Given the description of an element on the screen output the (x, y) to click on. 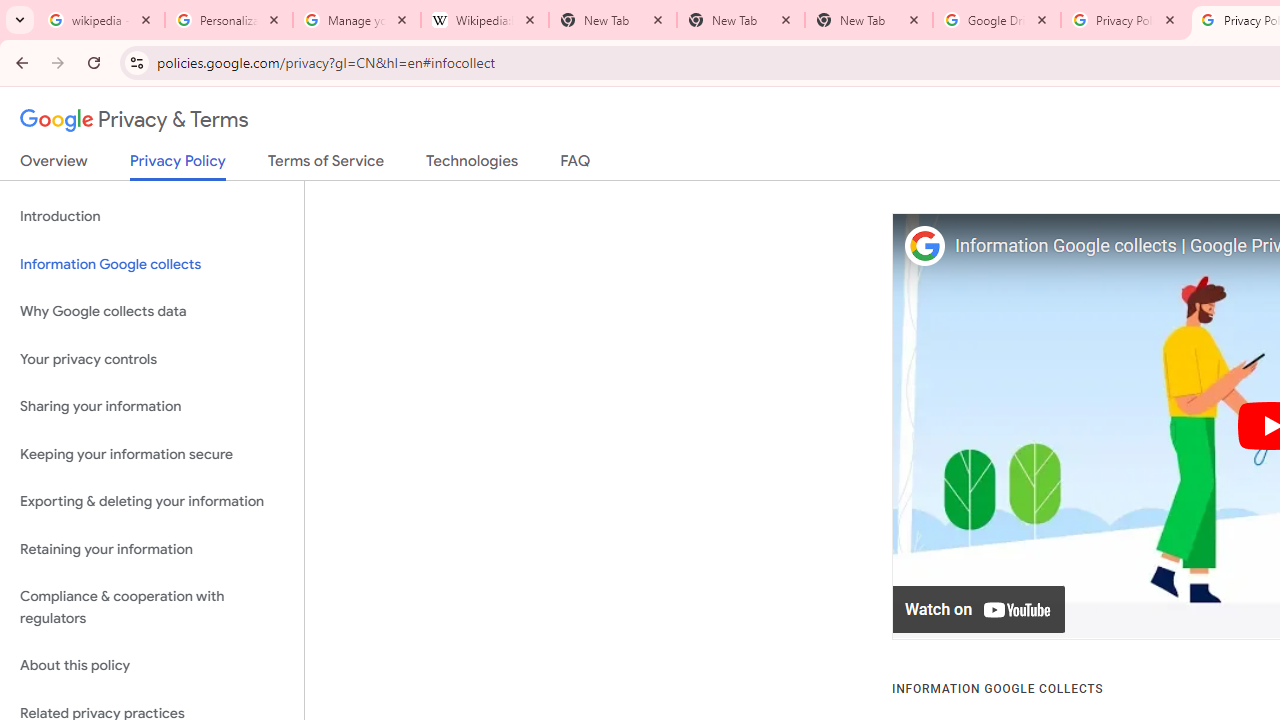
Watch on YouTube (979, 610)
